Given the description of an element on the screen output the (x, y) to click on. 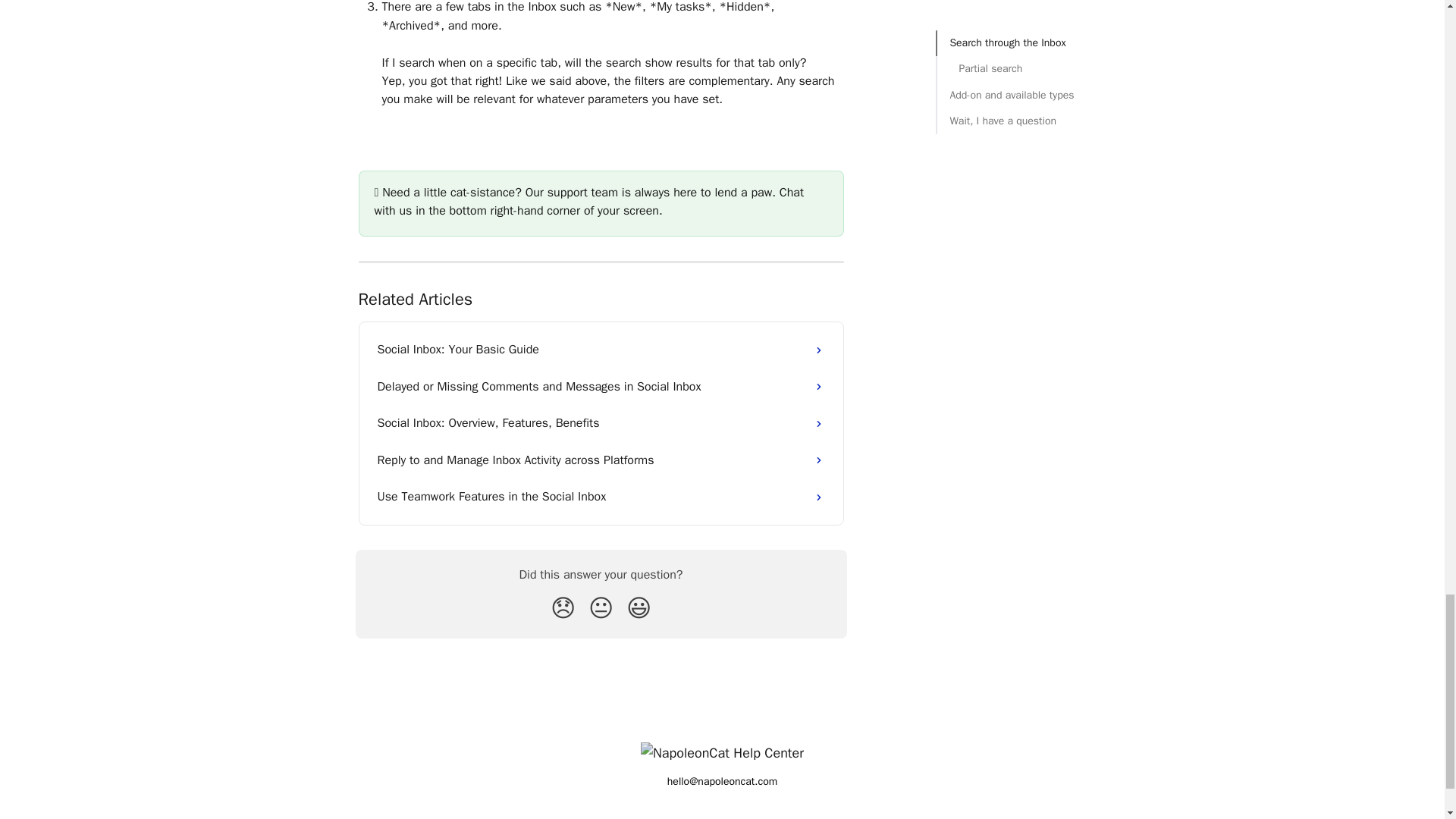
Reply to and Manage Inbox Activity across Platforms (601, 460)
Use Teamwork Features in the Social Inbox (601, 496)
Social Inbox: Overview, Features, Benefits (601, 422)
Smiley (638, 608)
Neutral (600, 608)
Social Inbox: Your Basic Guide (601, 349)
Disappointed (562, 608)
Delayed or Missing Comments and Messages in Social Inbox (601, 386)
